Given the description of an element on the screen output the (x, y) to click on. 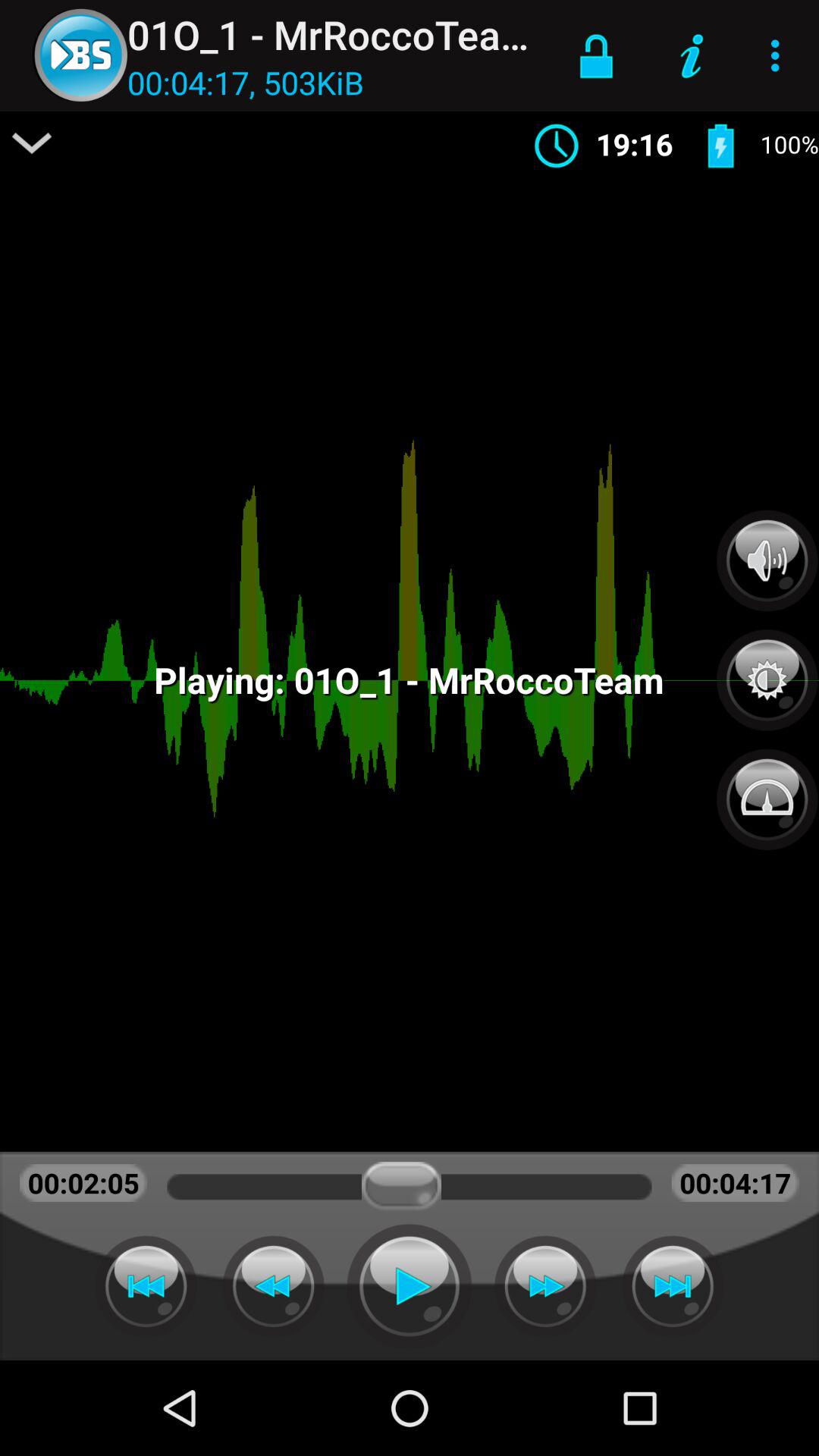
toggle autoplay option (672, 1286)
